Given the description of an element on the screen output the (x, y) to click on. 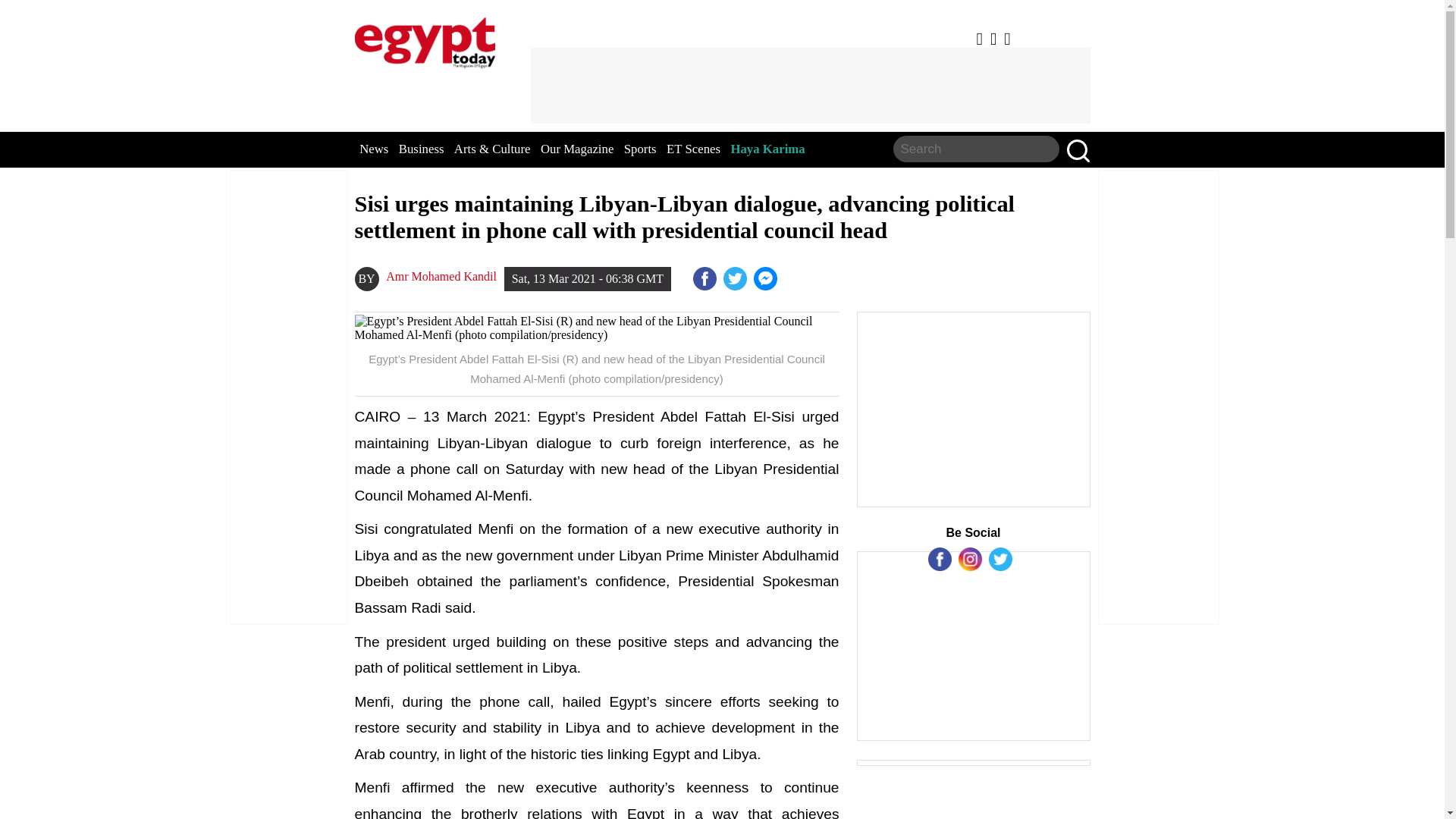
ET Scenes (693, 149)
Sports (640, 149)
Our Magazine (576, 149)
Amr Mohamed Kandil (440, 276)
Haya Karima (767, 149)
Sisi heads to Guinea first destination in overseas tour (767, 278)
EgyptToday (425, 39)
Business (421, 149)
